Given the description of an element on the screen output the (x, y) to click on. 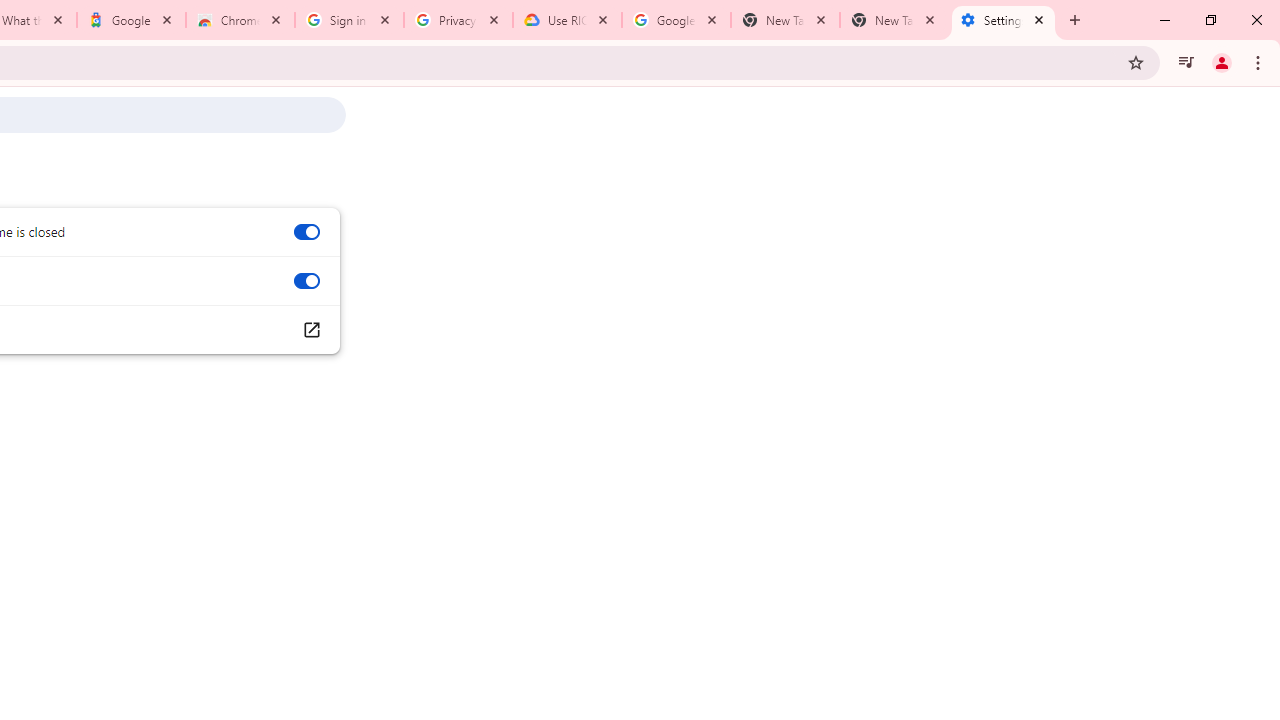
Use graphics acceleration when available (306, 281)
Sign in - Google Accounts (349, 20)
New Tab (893, 20)
Google (130, 20)
Open your computer's proxy settings (310, 330)
Settings - System (1003, 20)
